Given the description of an element on the screen output the (x, y) to click on. 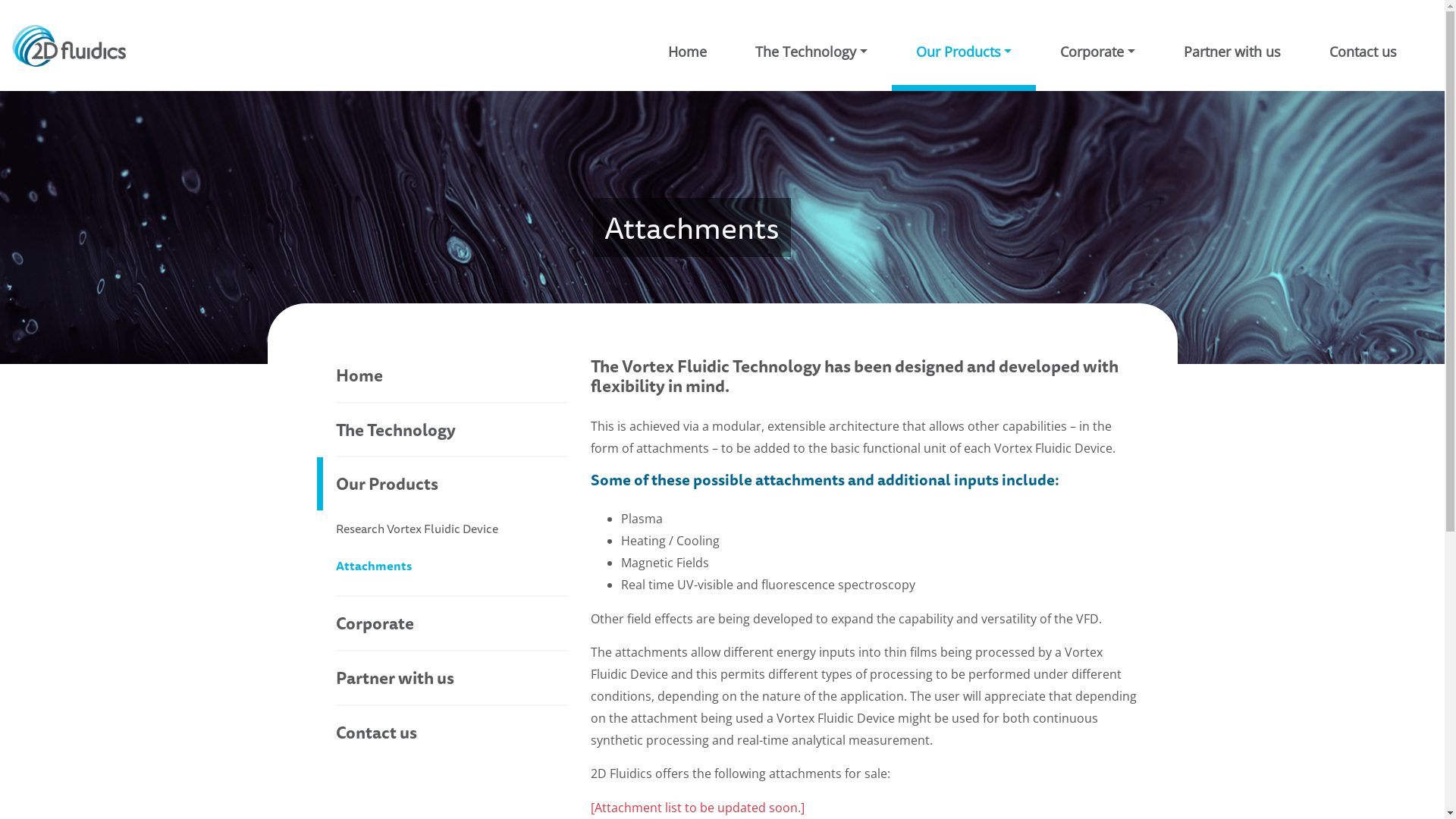
Partner with us Element type: text (1232, 45)
Attachments Element type: text (451, 565)
Home Element type: text (687, 45)
Corporate Element type: text (451, 622)
The Technology Element type: text (811, 45)
Contact us Element type: text (451, 732)
Home Element type: text (451, 374)
Contact us Element type: text (1363, 45)
Corporate Element type: text (1097, 45)
Partner with us Element type: text (451, 677)
Our Products Element type: text (442, 483)
The Technology Element type: text (451, 429)
Research Vortex Fluidic Device Element type: text (451, 528)
Our Products Element type: text (963, 45)
